Given the description of an element on the screen output the (x, y) to click on. 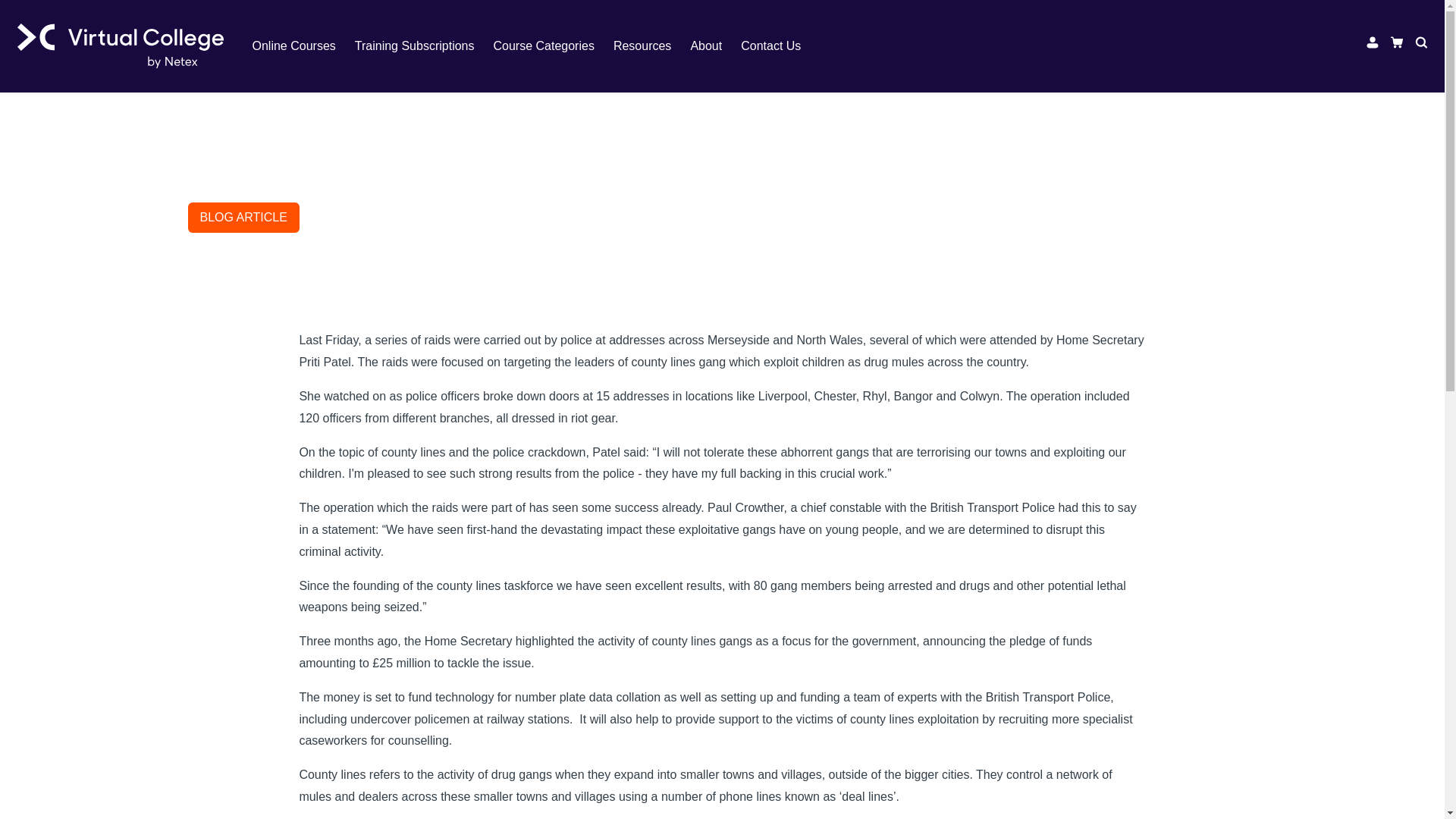
Training Subscriptions (424, 45)
About (715, 45)
Contact Us (780, 45)
Resources (651, 45)
Online Courses (302, 45)
Course Categories (552, 45)
